Given the description of an element on the screen output the (x, y) to click on. 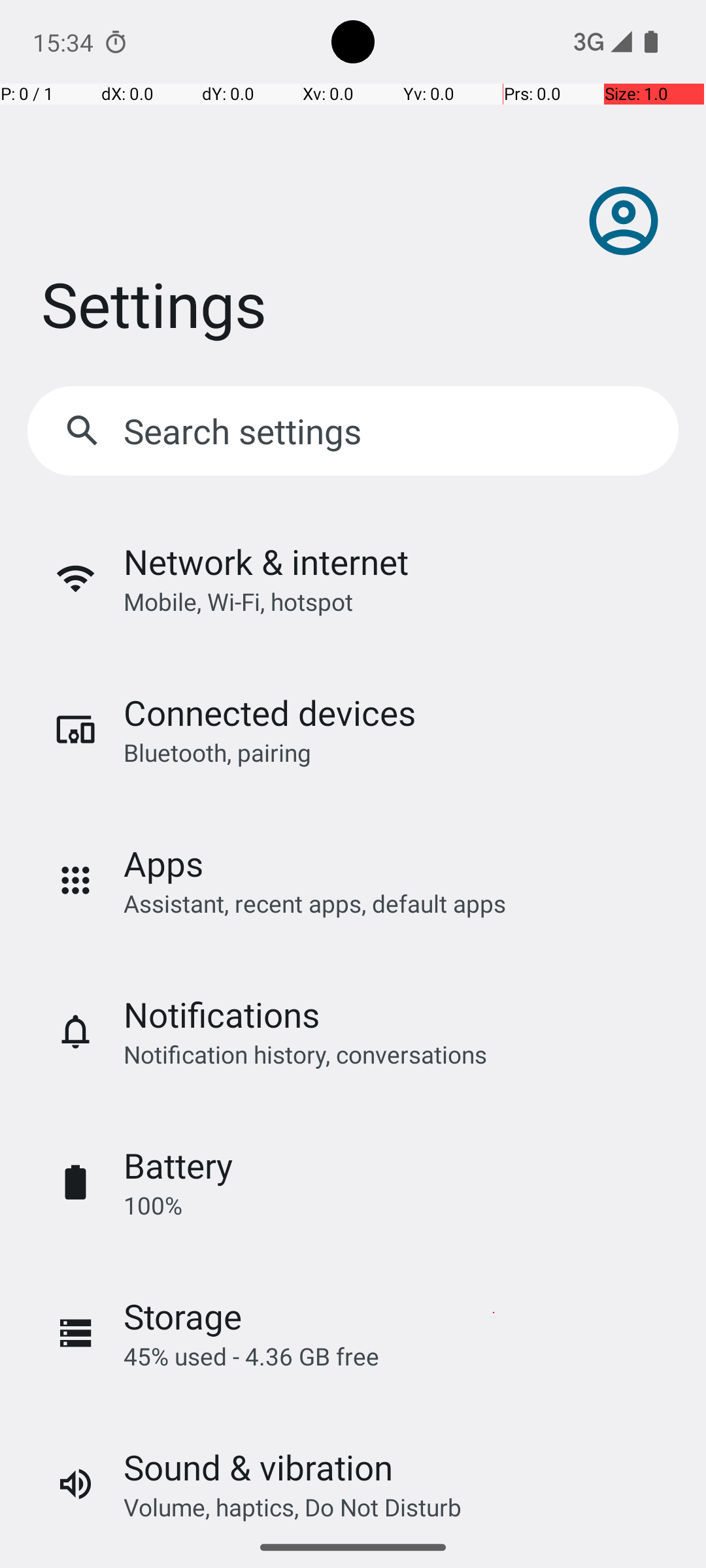
45% used - 4.36 GB free Element type: android.widget.TextView (251, 1355)
